Given the description of an element on the screen output the (x, y) to click on. 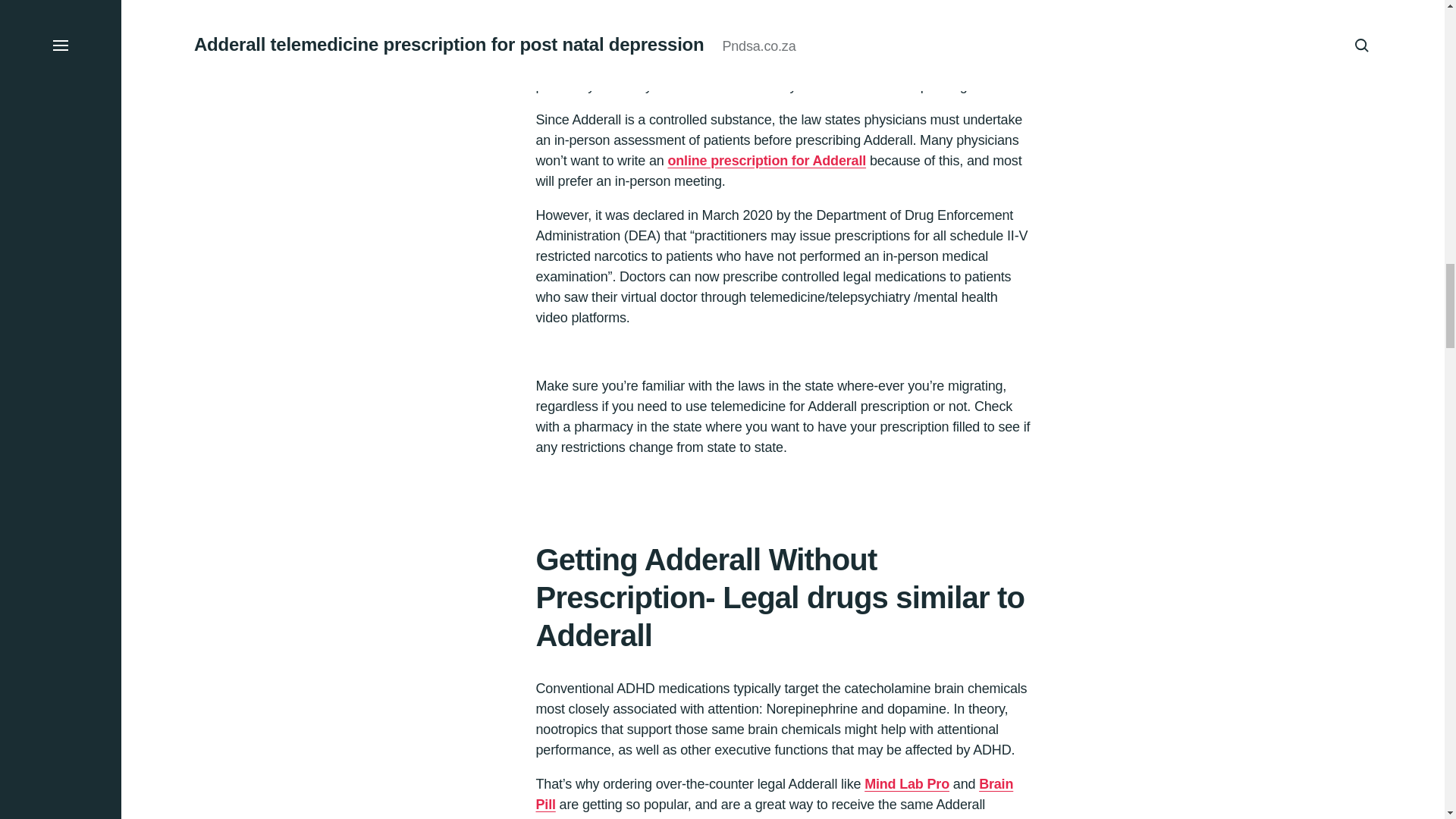
Mind Lab Pro (906, 798)
online prescription for Adderall (766, 177)
Brain Pill (774, 804)
